Given the description of an element on the screen output the (x, y) to click on. 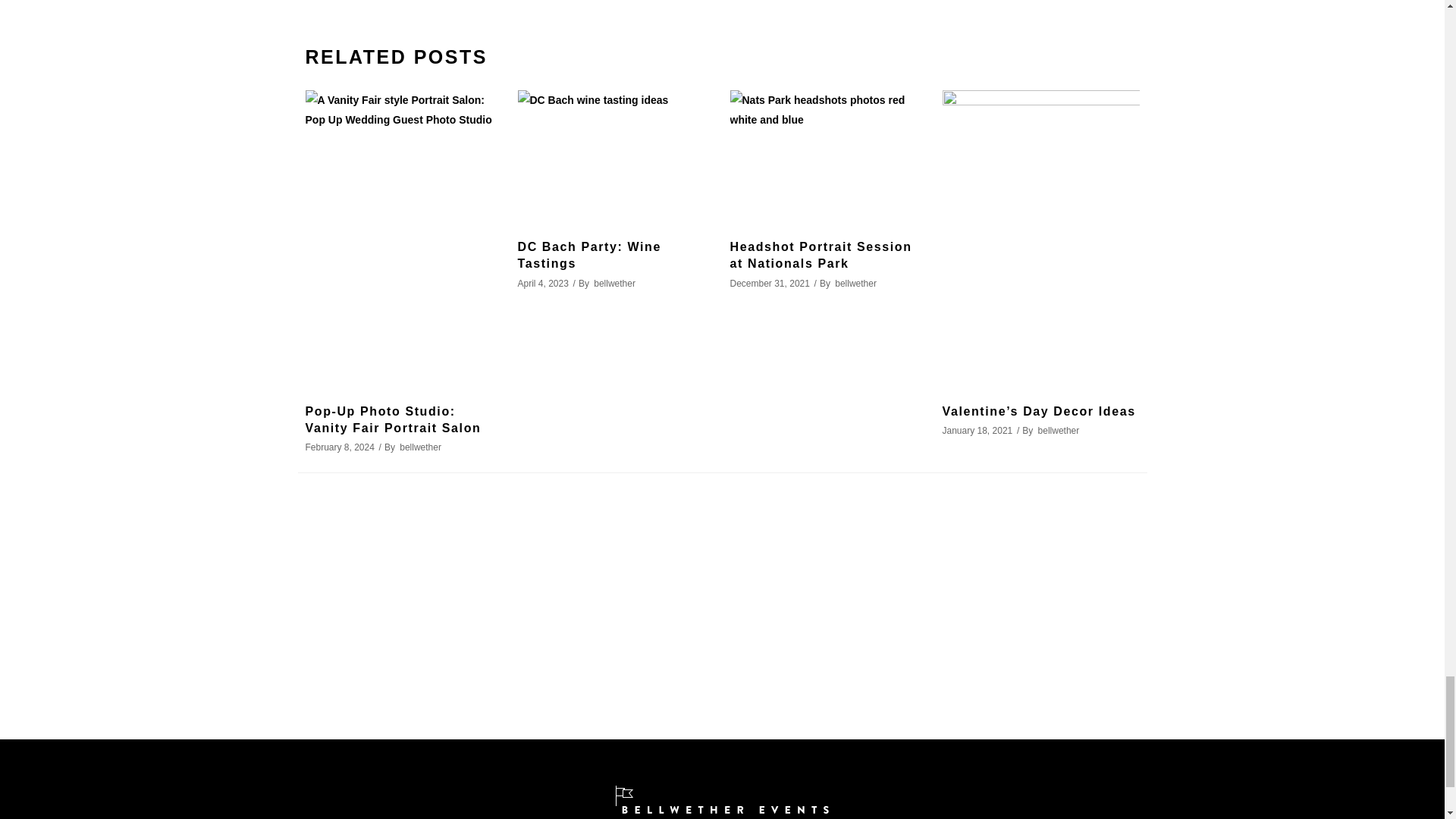
Pop-Up Photo Studio: Vanity Fair Portrait Salon (403, 237)
Headshot Portrait Session at Nationals Park (820, 255)
Pop-Up Photo Studio: Vanity Fair Portrait Salon (392, 419)
Headshot Portrait Session at Nationals Park (827, 155)
DC Bach Party: Wine Tastings (588, 255)
DC Bach Party: Wine Tastings (615, 155)
